Given the description of an element on the screen output the (x, y) to click on. 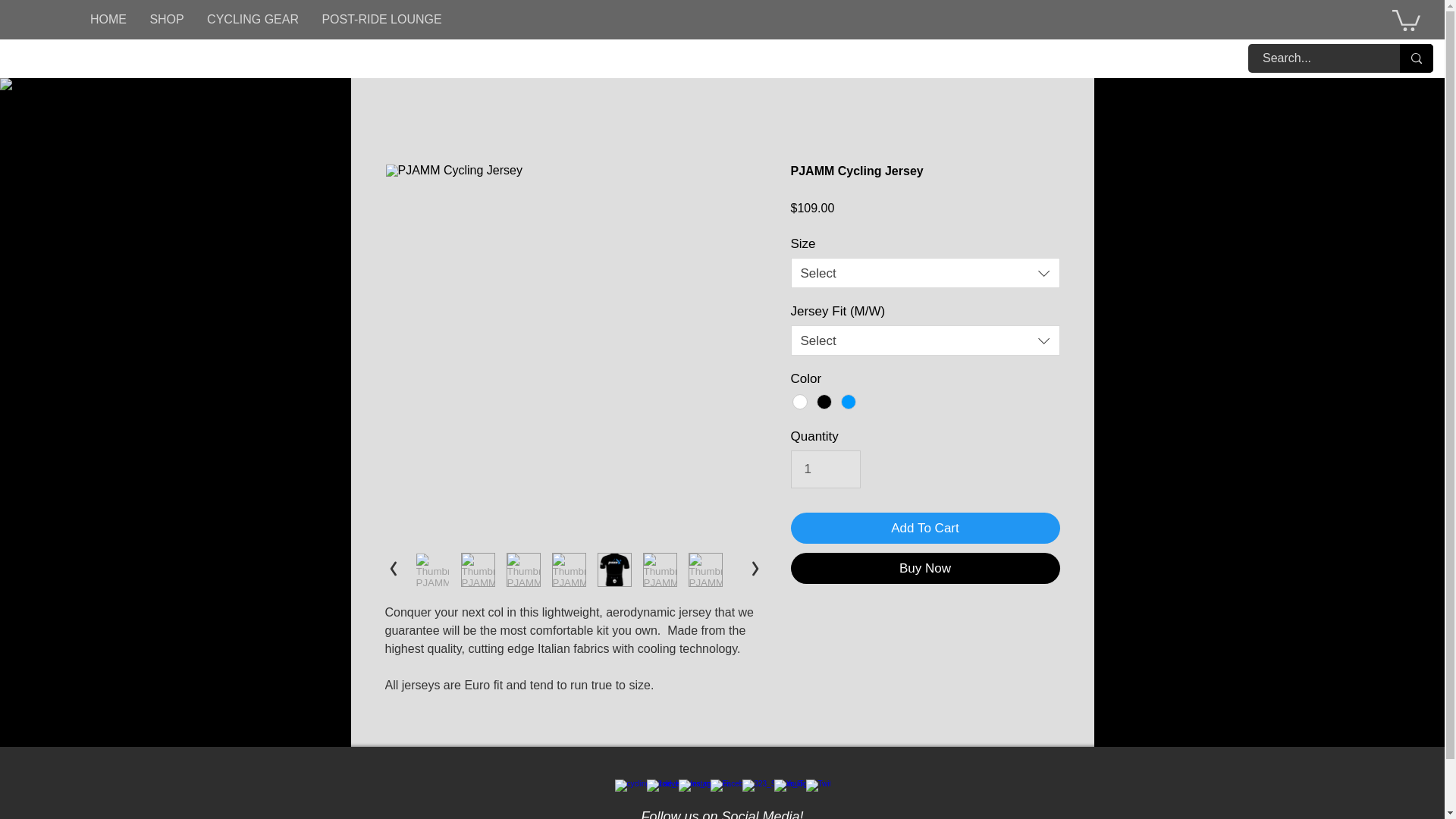
1 (825, 468)
Buy Now (924, 567)
Add To Cart (924, 528)
Select (924, 340)
HOME (108, 19)
Select (924, 272)
